Given the description of an element on the screen output the (x, y) to click on. 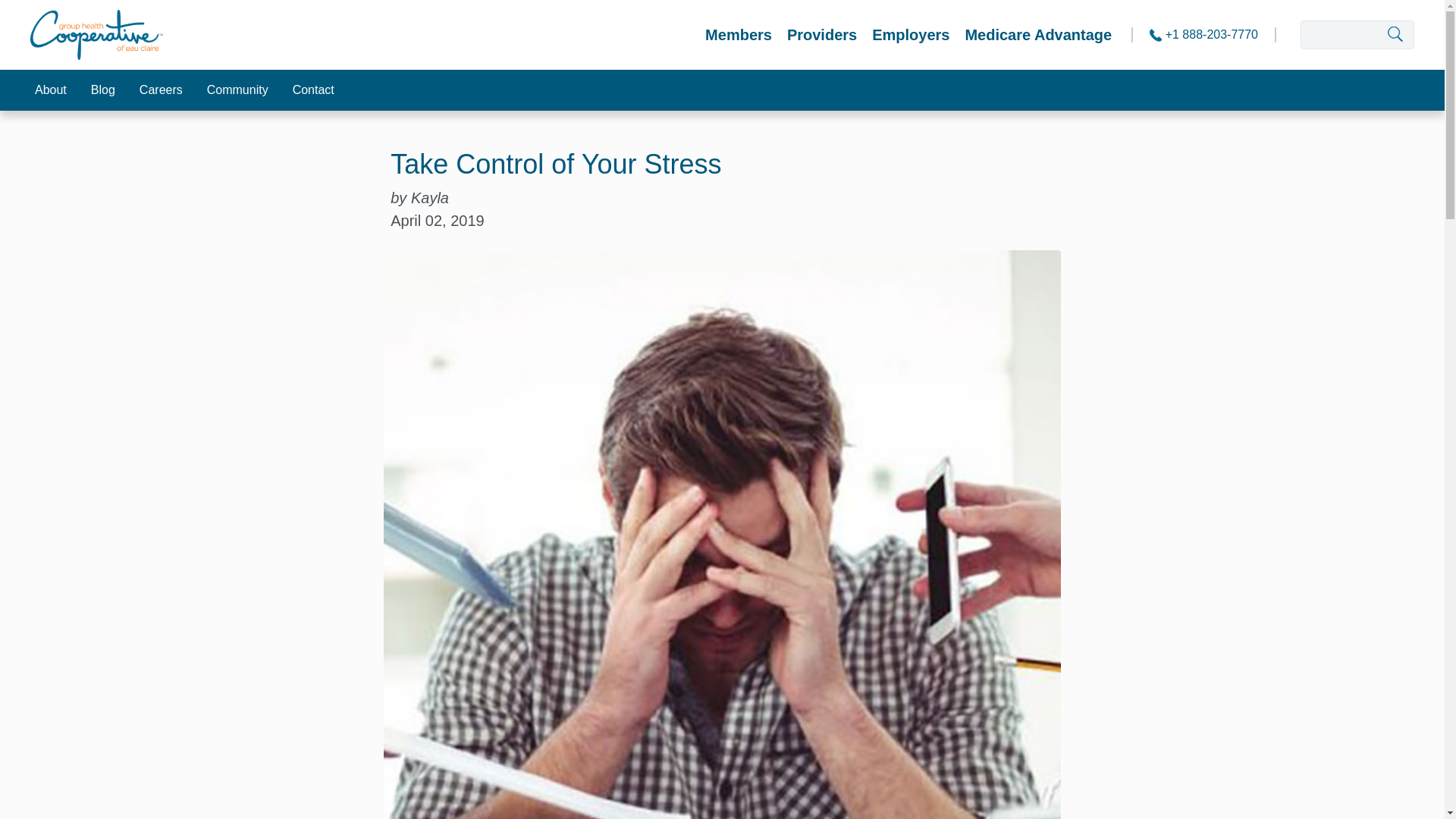
Medicare Advantage (1037, 34)
About (50, 89)
Search (1409, 35)
Careers (161, 89)
Blog (103, 89)
Contact (313, 89)
Search (1409, 35)
Search (1409, 35)
Employers (910, 34)
Providers (821, 34)
Community (238, 89)
Members (737, 34)
